Given the description of an element on the screen output the (x, y) to click on. 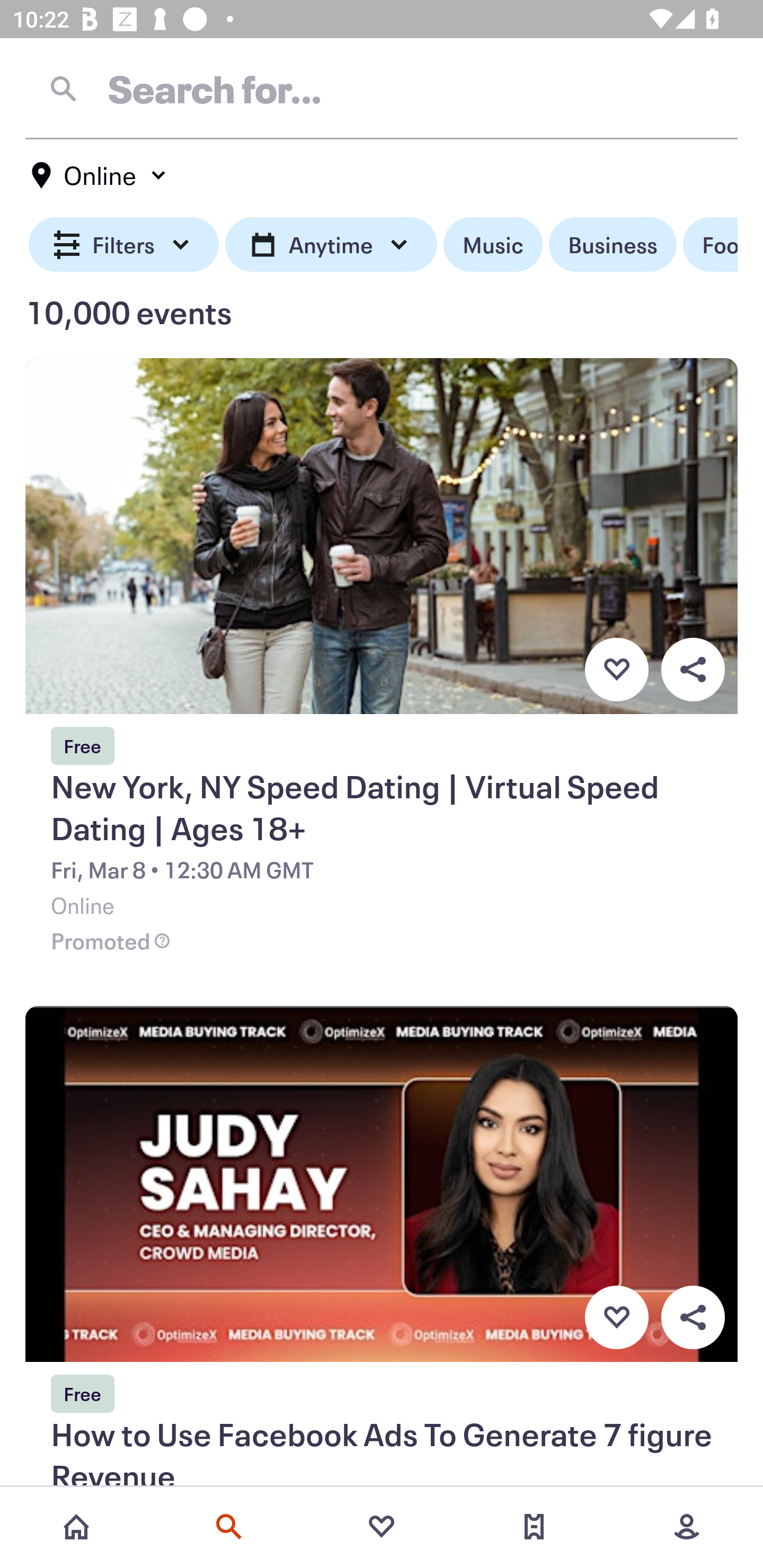
Search for… (381, 88)
Online (99, 175)
Filters (123, 244)
Anytime (331, 244)
Music (492, 244)
Business (612, 244)
Favorite button (616, 669)
Overflow menu button (692, 669)
Favorite button (616, 1317)
Overflow menu button (692, 1317)
Home (76, 1526)
Search events (228, 1526)
Favorites (381, 1526)
Tickets (533, 1526)
More (686, 1526)
